Given the description of an element on the screen output the (x, y) to click on. 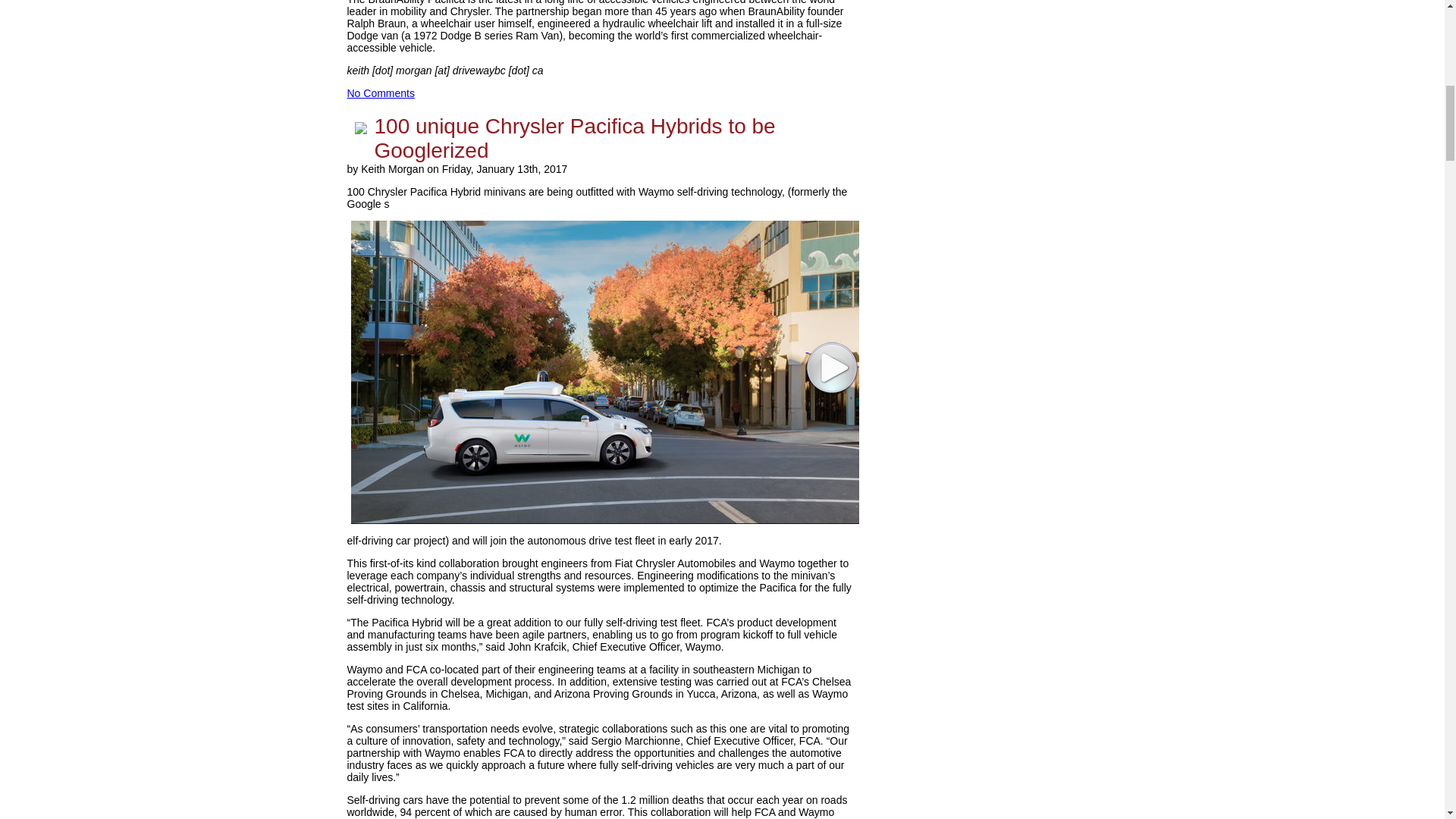
100 unique Chrysler Pacifica Hybrids to be Googlerized (575, 138)
